Given the description of an element on the screen output the (x, y) to click on. 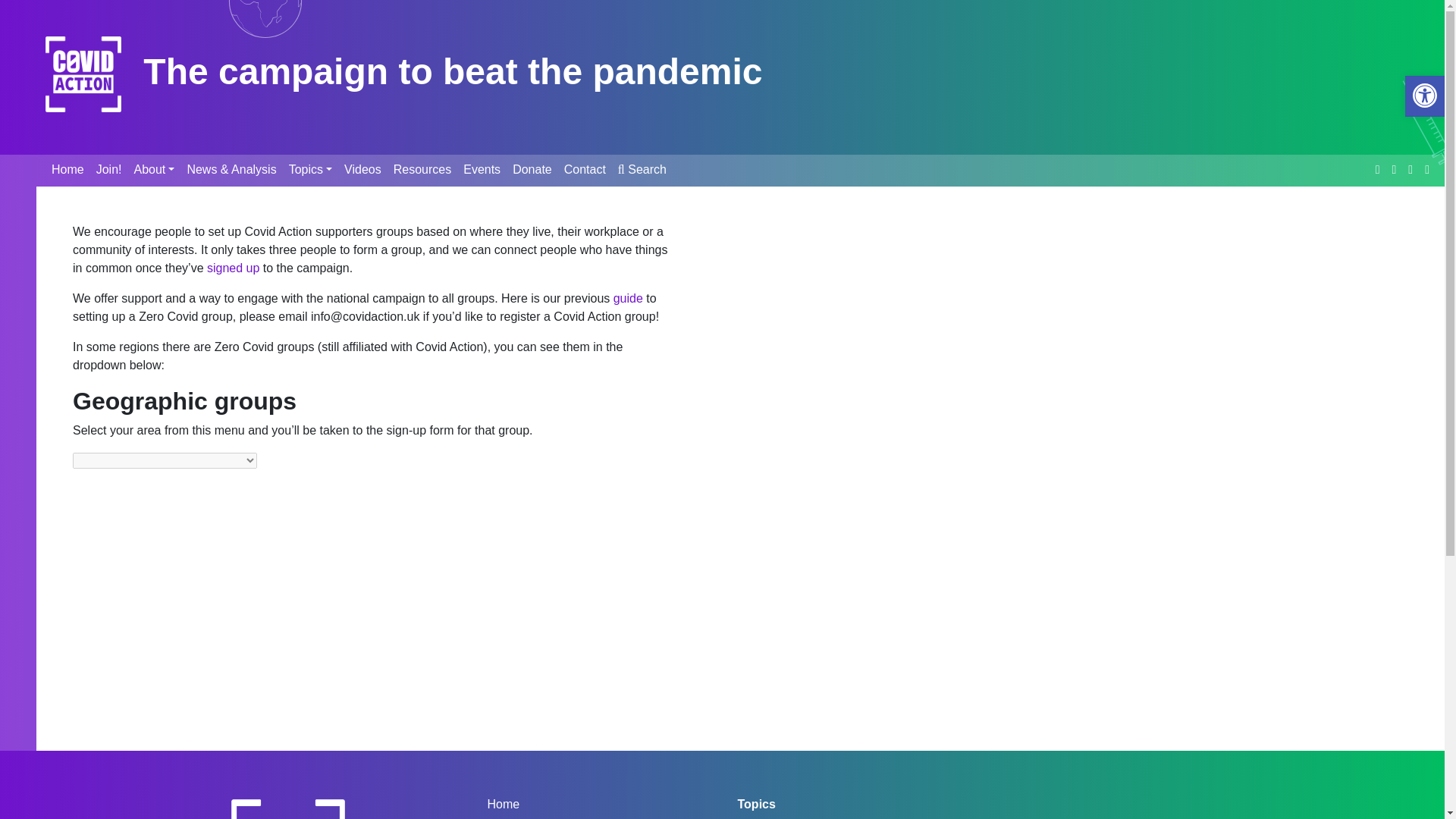
Events (481, 170)
Contact (584, 170)
Search (641, 170)
Home (67, 170)
Videos (362, 170)
About (154, 170)
Join! (109, 170)
Donate (531, 170)
Resources (422, 170)
Topics (309, 170)
Accessibility Tools (1424, 95)
